Given the description of an element on the screen output the (x, y) to click on. 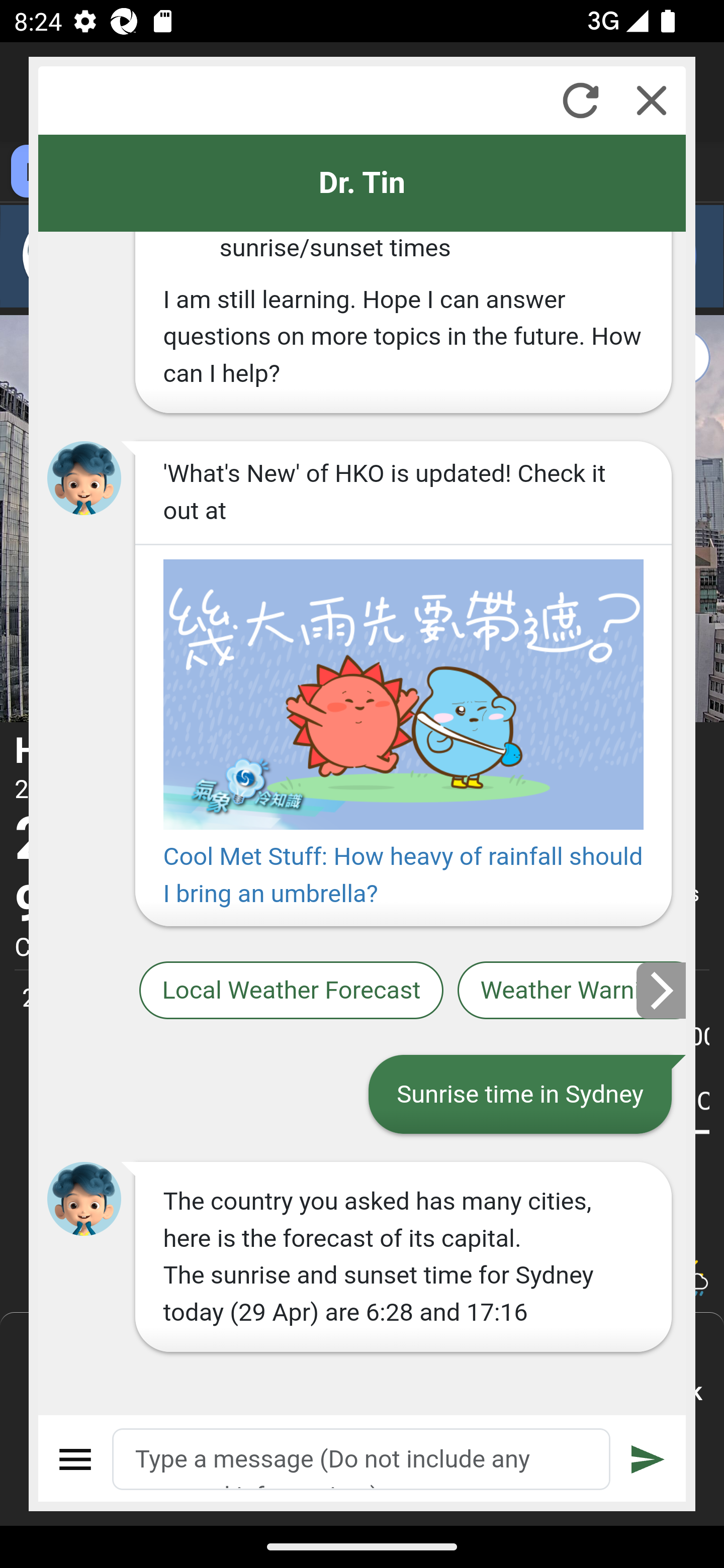
Refresh (580, 100)
Close (651, 100)
Local Weather Forecast (291, 990)
Weather Warnings (571, 990)
Next slide (661, 990)
Menu (75, 1458)
Submit (648, 1458)
